Given the description of an element on the screen output the (x, y) to click on. 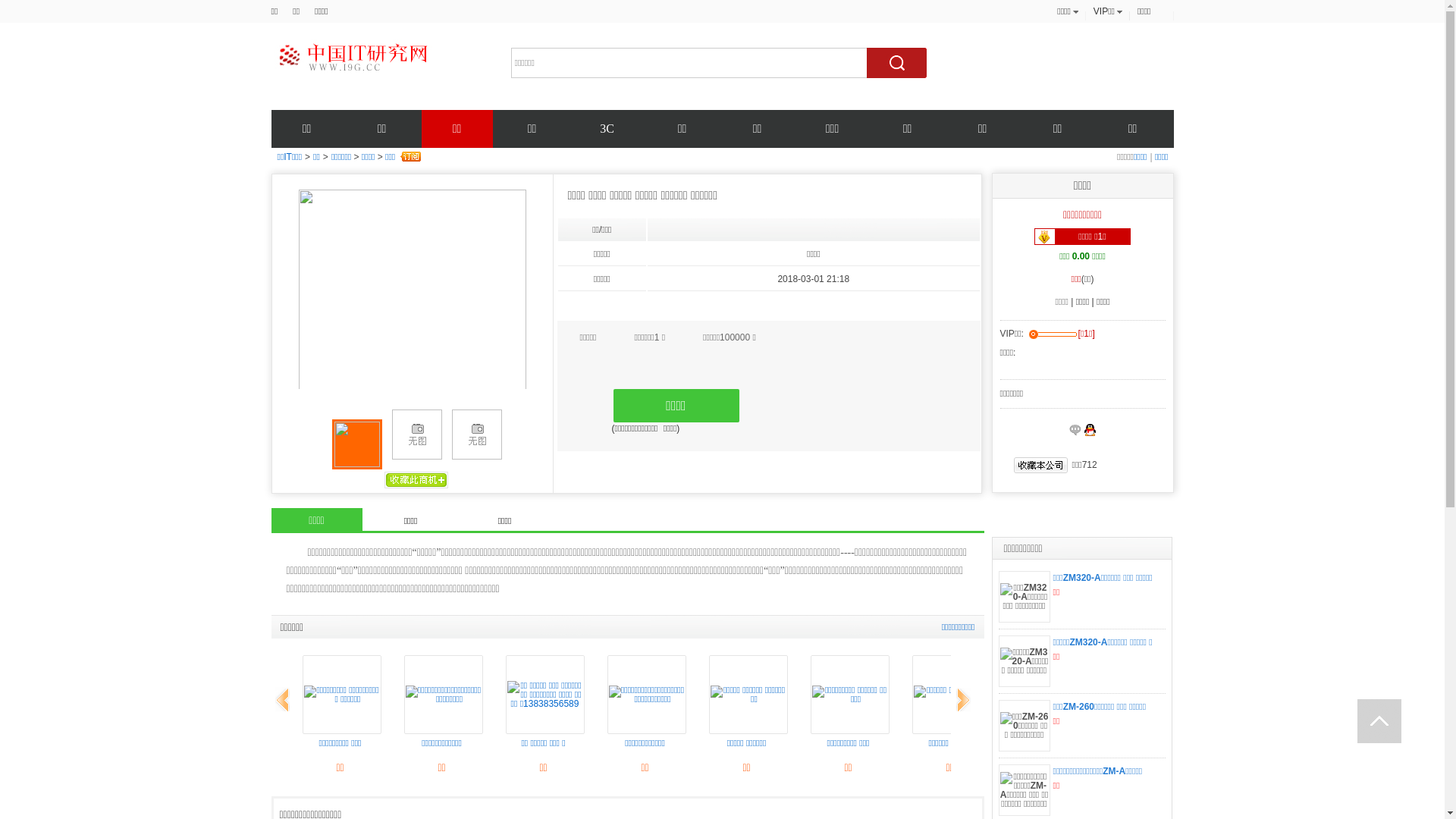
  Element type: text (1379, 721)
3C Element type: text (606, 128)
